Given the description of an element on the screen output the (x, y) to click on. 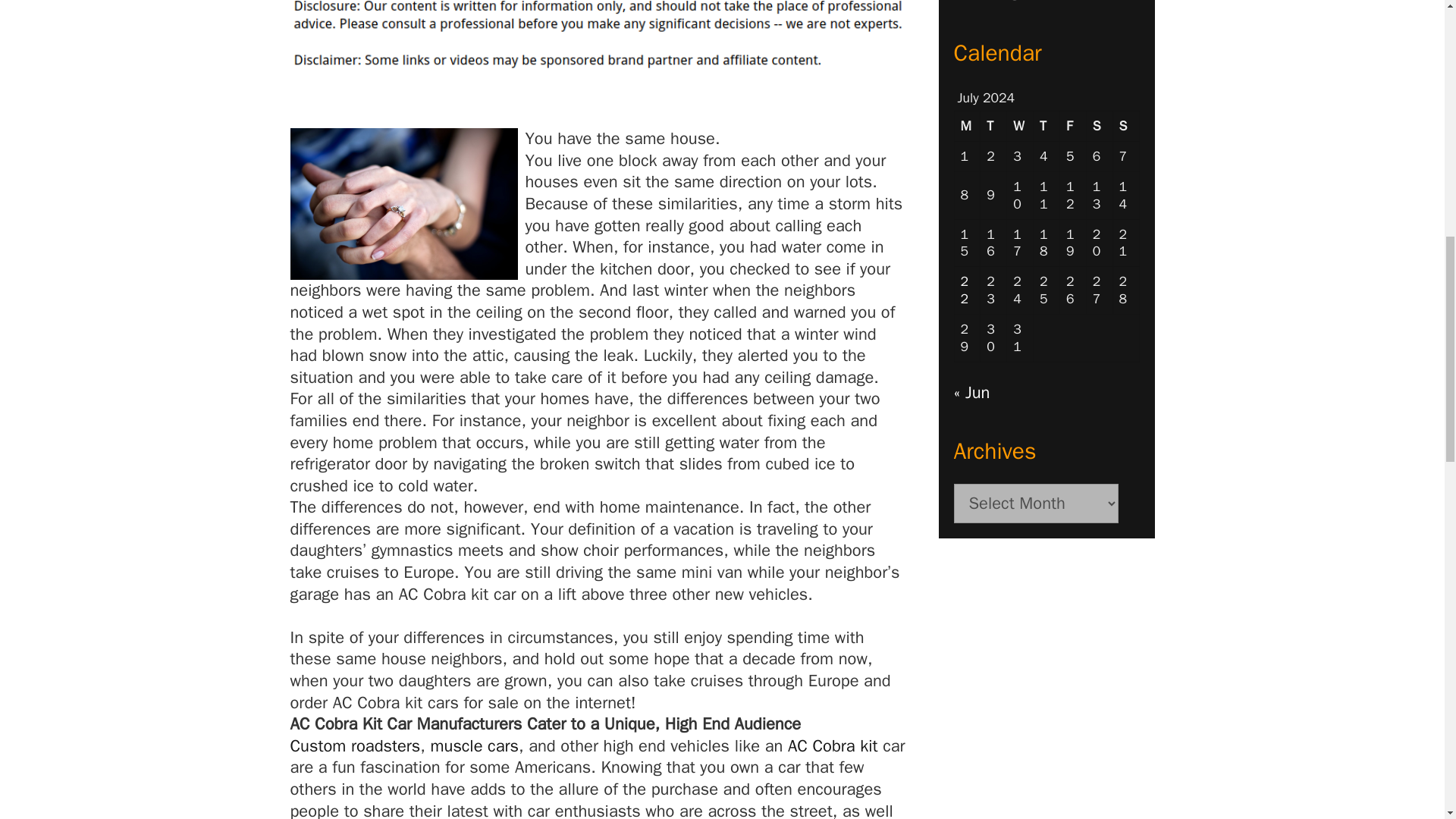
muscle cars (474, 745)
Find more about Shelby cobra kit car (474, 745)
AC Cobra kit (832, 745)
more links (354, 745)
Custom roadsters (354, 745)
Cobra replica, Unfinished cobra kit car for sale (832, 745)
Cubas Time Capsule Exploring Classic Cars (1034, 1)
